Given the description of an element on the screen output the (x, y) to click on. 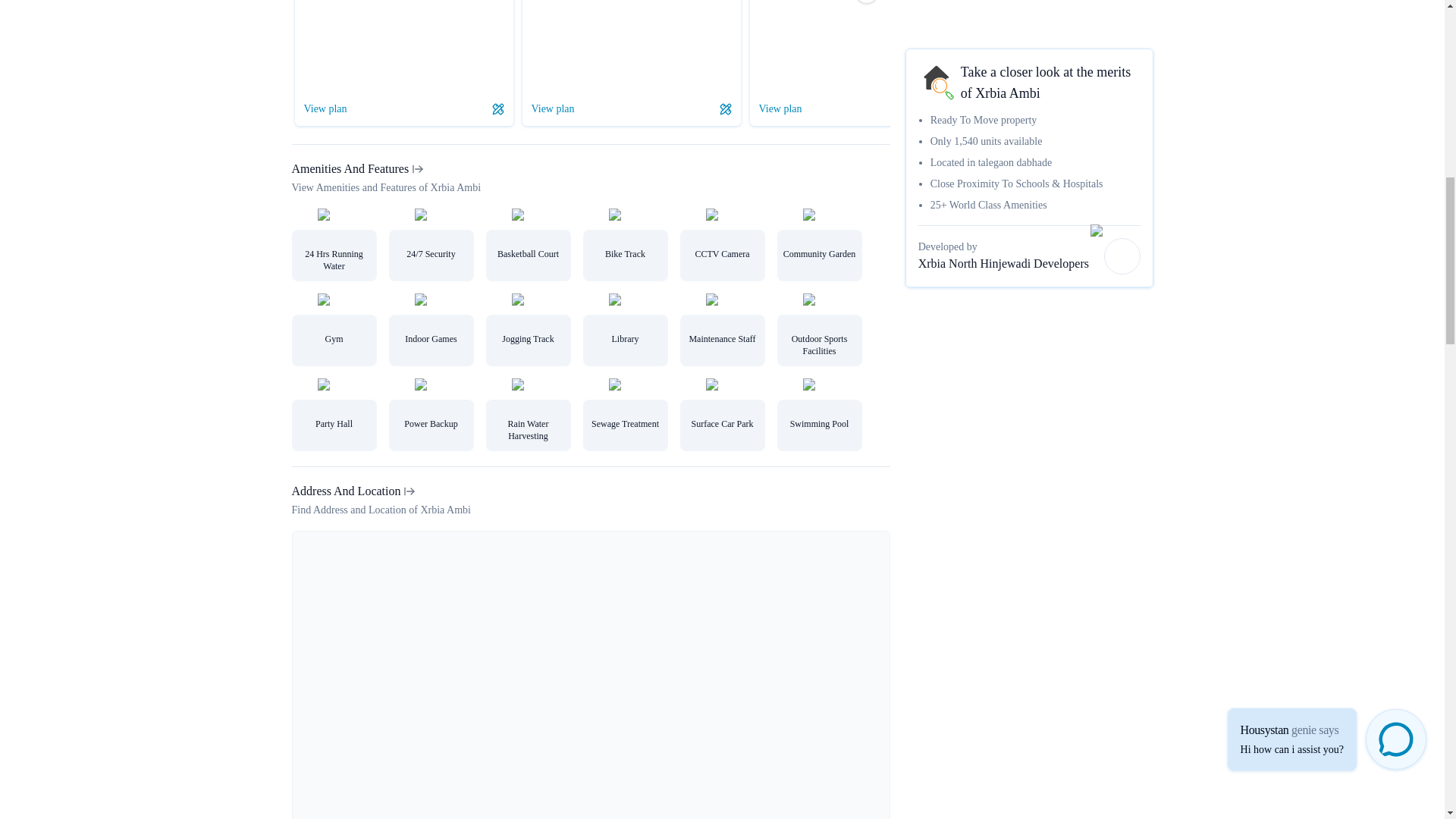
Scroll right (866, 2)
